Given the description of an element on the screen output the (x, y) to click on. 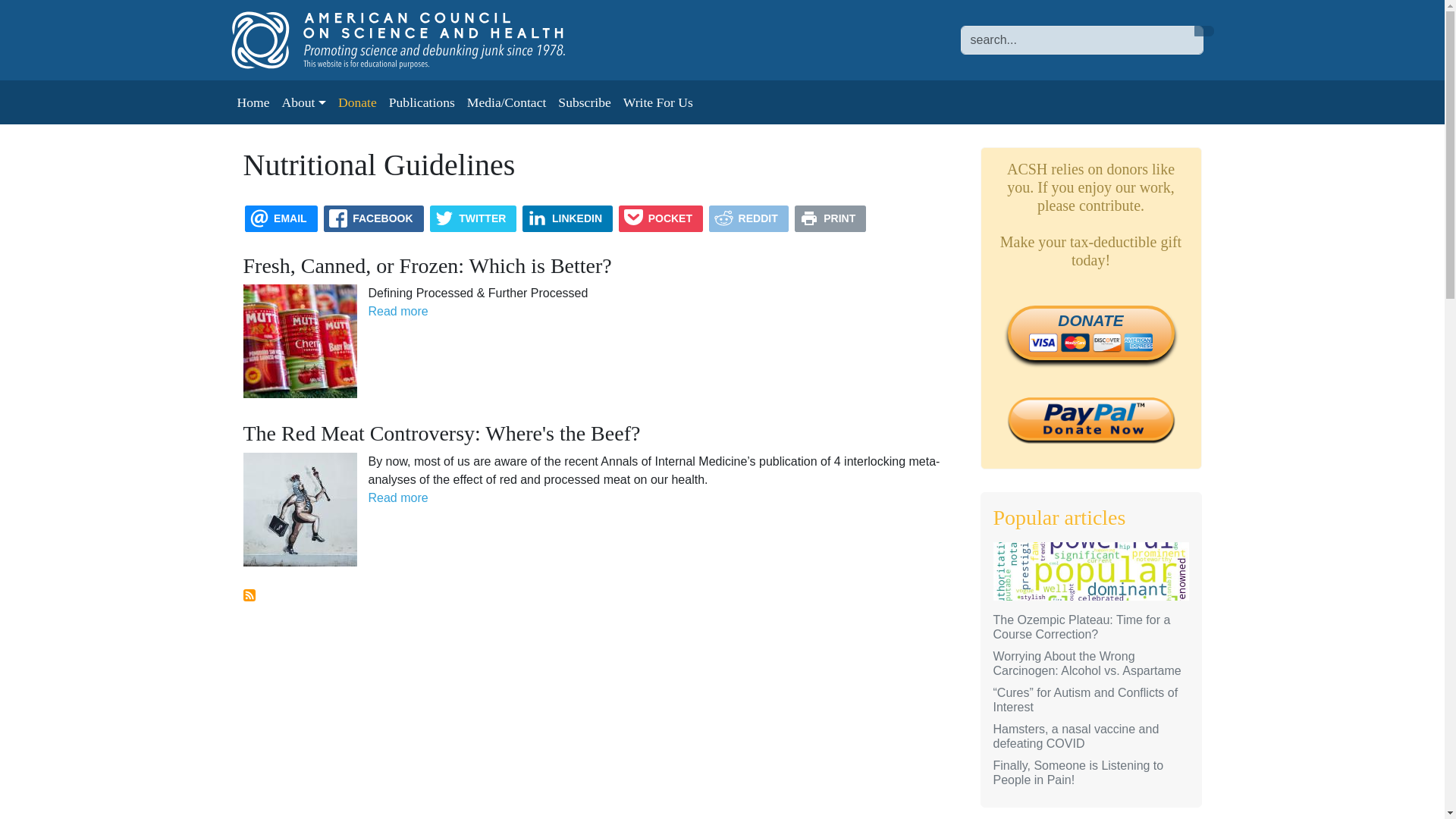
Expand menu About (303, 101)
TWITTER (472, 218)
The Ozempic Plateau: Time for a Course Correction? (1081, 626)
Home (252, 101)
Home (413, 39)
Publications (421, 101)
Worrying About the Wrong Carcinogen: Alcohol vs. Aspartame (1086, 663)
LINKEDIN (567, 218)
EMAIL (280, 218)
DONATE (1090, 332)
Hamsters, a nasal vaccine and defeating COVID (1075, 736)
Subscribe (583, 101)
Fresh, Canned, or Frozen: Which is Better? (427, 265)
